Given the description of an element on the screen output the (x, y) to click on. 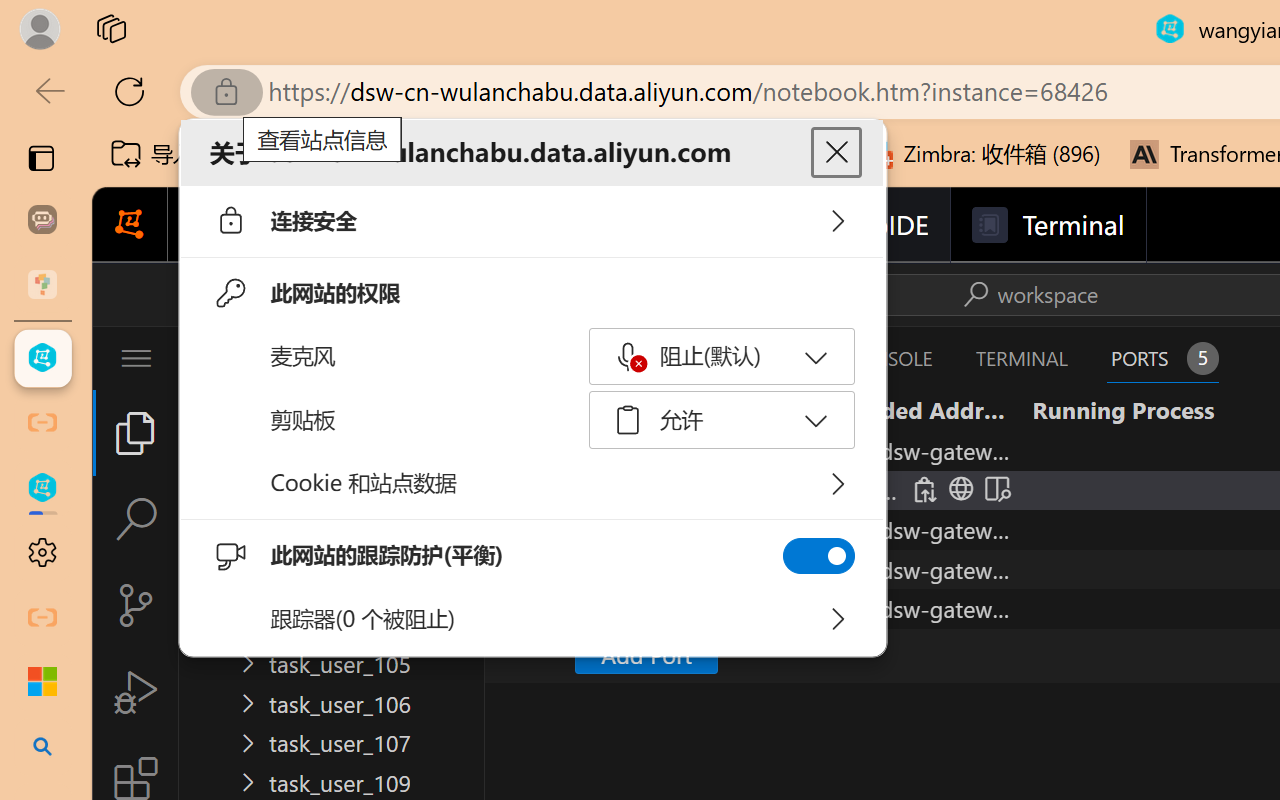
Class: actions-container (1027, 294)
Terminal (Ctrl+`) (1021, 358)
wangyian_dsw - DSW (42, 357)
Ports - 5 forwarded ports Ports - 5 forwarded ports (1162, 358)
Class: c01120 (636, 361)
Preview in Editor (994, 489)
